Given the description of an element on the screen output the (x, y) to click on. 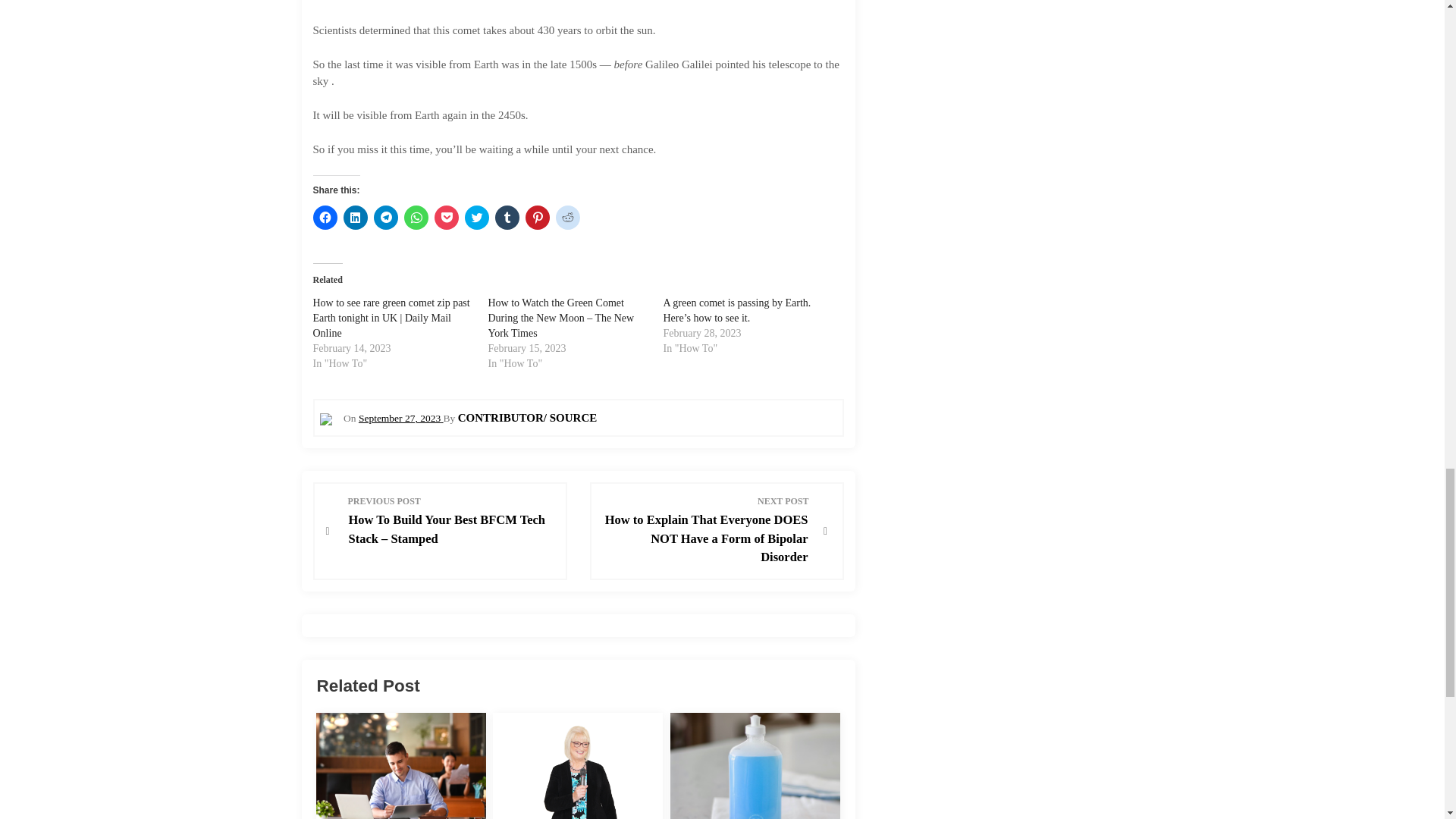
Click to share on Reddit (566, 217)
Click to share on WhatsApp (415, 217)
Click to share on Telegram (384, 217)
Click to share on Facebook (324, 217)
Click to share on Twitter (475, 217)
Click to share on Tumblr (506, 217)
Click to share on Pocket (445, 217)
September 27, 2023 (401, 418)
Click to share on Pinterest (536, 217)
Click to share on LinkedIn (354, 217)
